Given the description of an element on the screen output the (x, y) to click on. 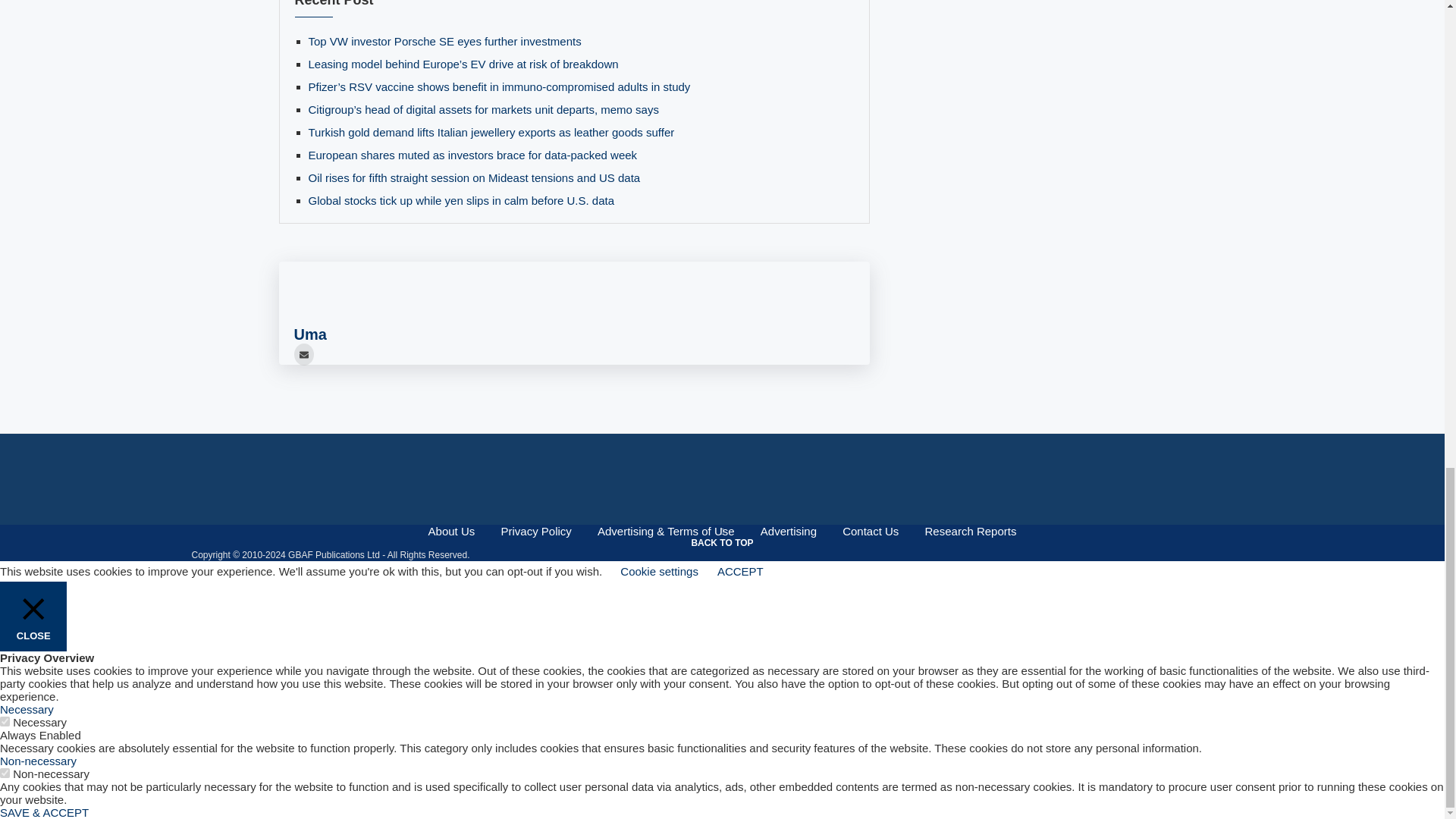
Top VW investor Porsche SE eyes further investments (443, 41)
User email (304, 354)
on (5, 721)
Uma (310, 334)
on (5, 773)
